Given the description of an element on the screen output the (x, y) to click on. 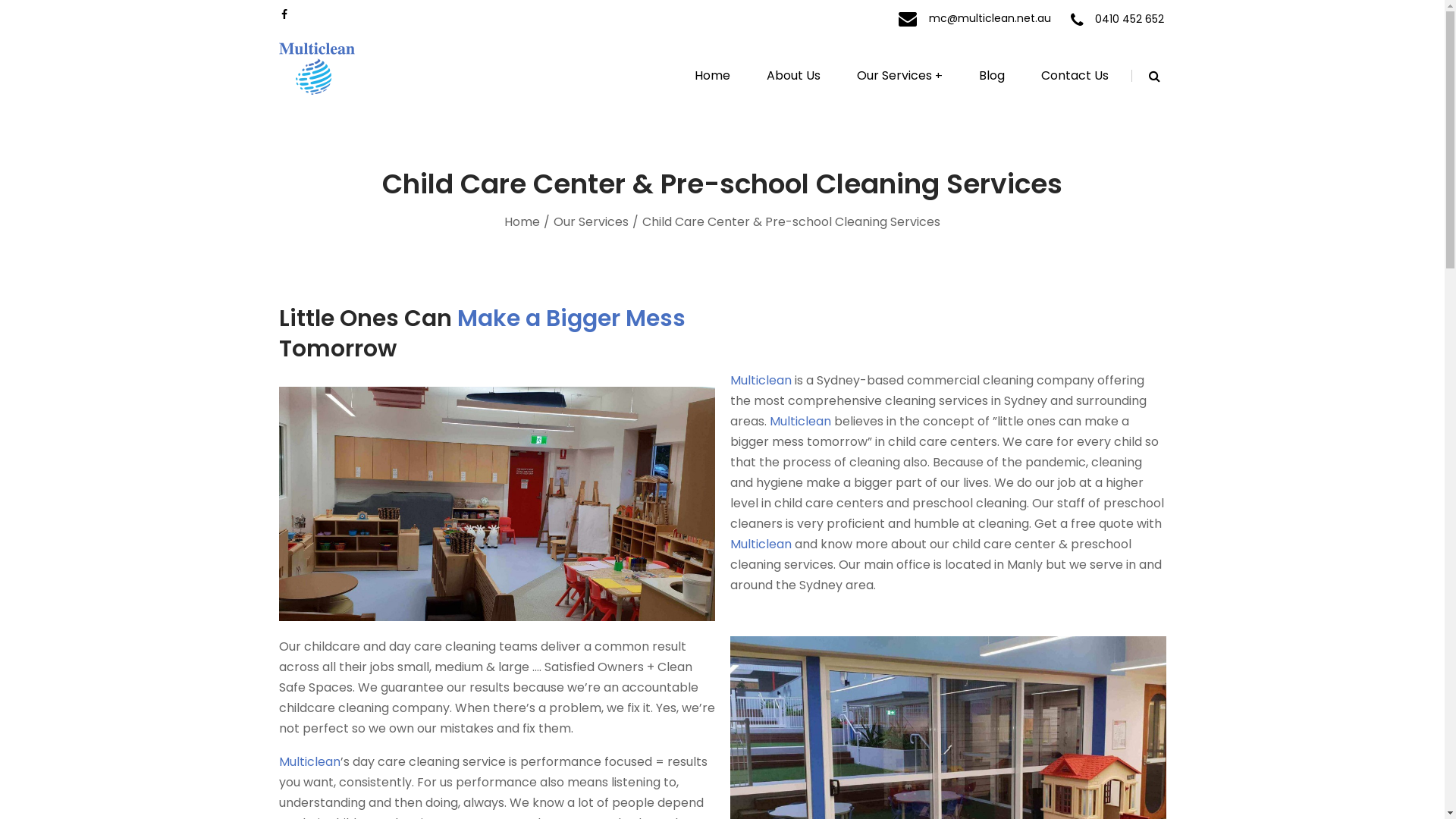
mc@multiclean.net.au Element type: text (989, 17)
  Element type: text (284, 14)
0410 452 652 Element type: text (1129, 17)
school6-scaled-1-1200x583 Element type: hover (497, 503)
Search Element type: text (1155, 15)
  Element type: text (908, 18)
  Element type: text (1078, 20)
Home Element type: text (711, 75)
Home Element type: text (521, 221)
Our Services Element type: text (590, 221)
Blog Element type: text (991, 75)
About Us Element type: text (793, 75)
Contact Us Element type: text (1074, 75)
Our Services Element type: text (898, 75)
Search Element type: text (1155, 121)
